Given the description of an element on the screen output the (x, y) to click on. 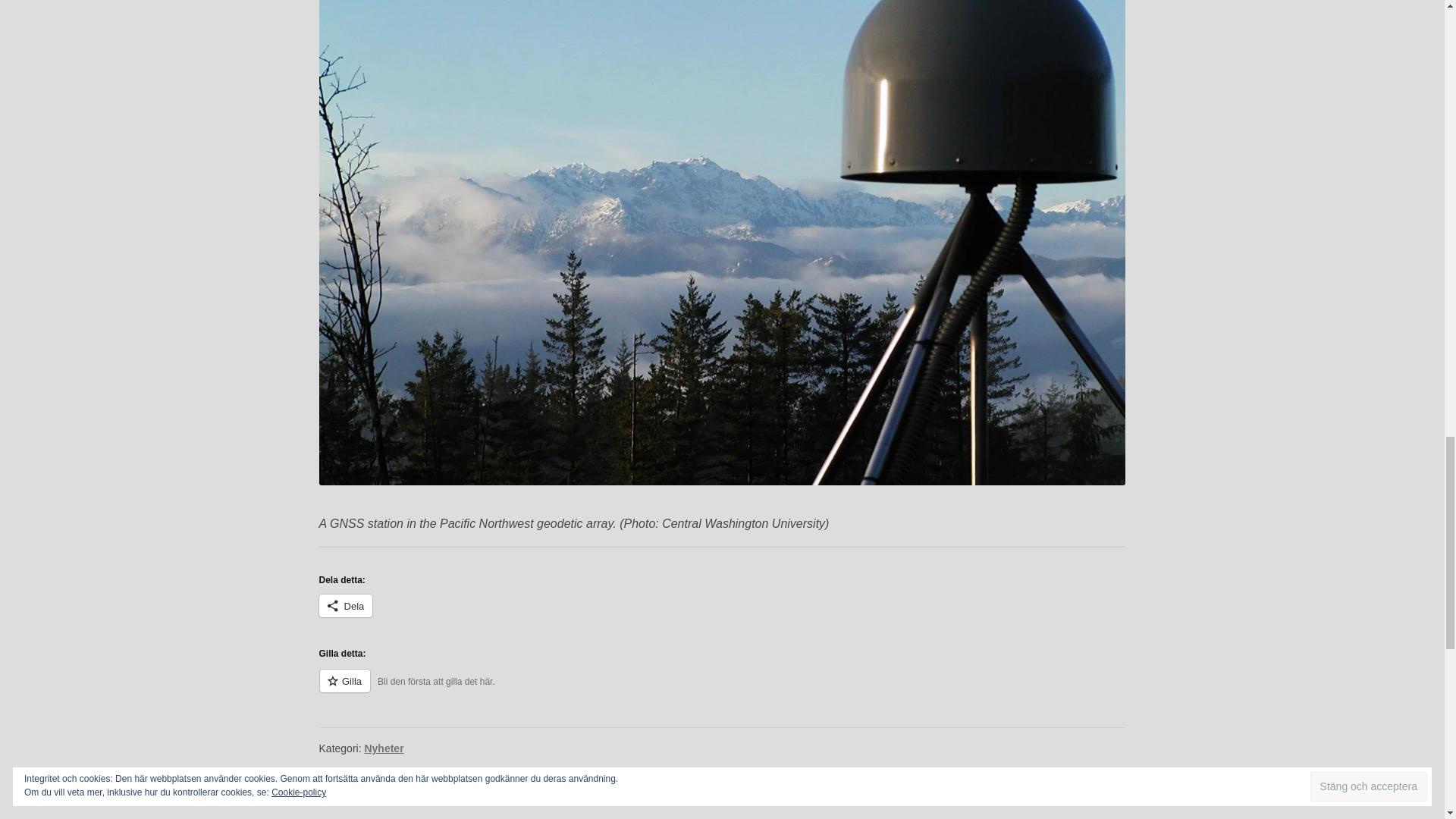
Gilla eller reblogga (721, 689)
Dela (345, 605)
Nyheter (383, 748)
